Given the description of an element on the screen output the (x, y) to click on. 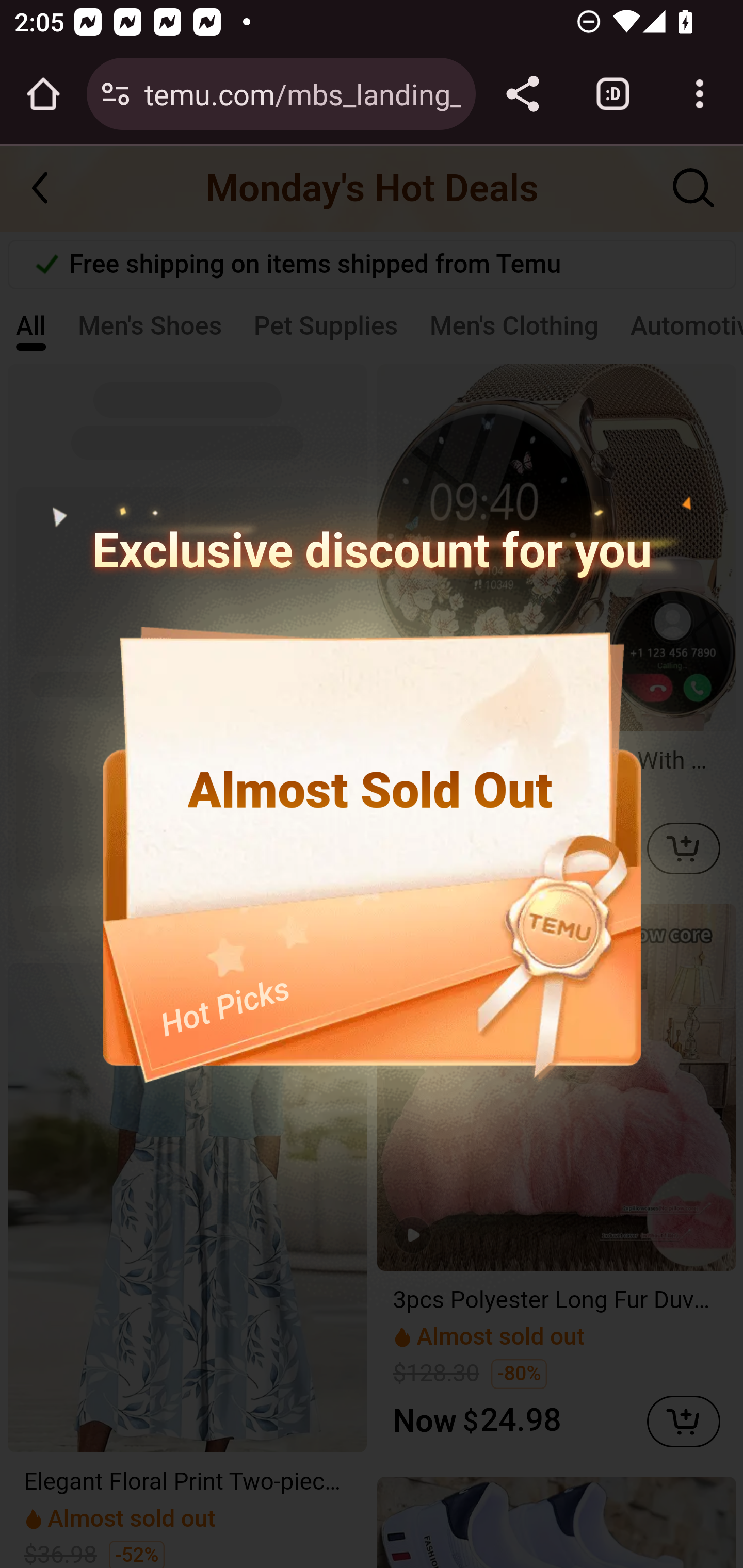
Open the home page (43, 93)
Connection is secure (115, 93)
Share (522, 93)
Switch or close tabs (612, 93)
Customize and control Google Chrome (699, 93)
